Given the description of an element on the screen output the (x, y) to click on. 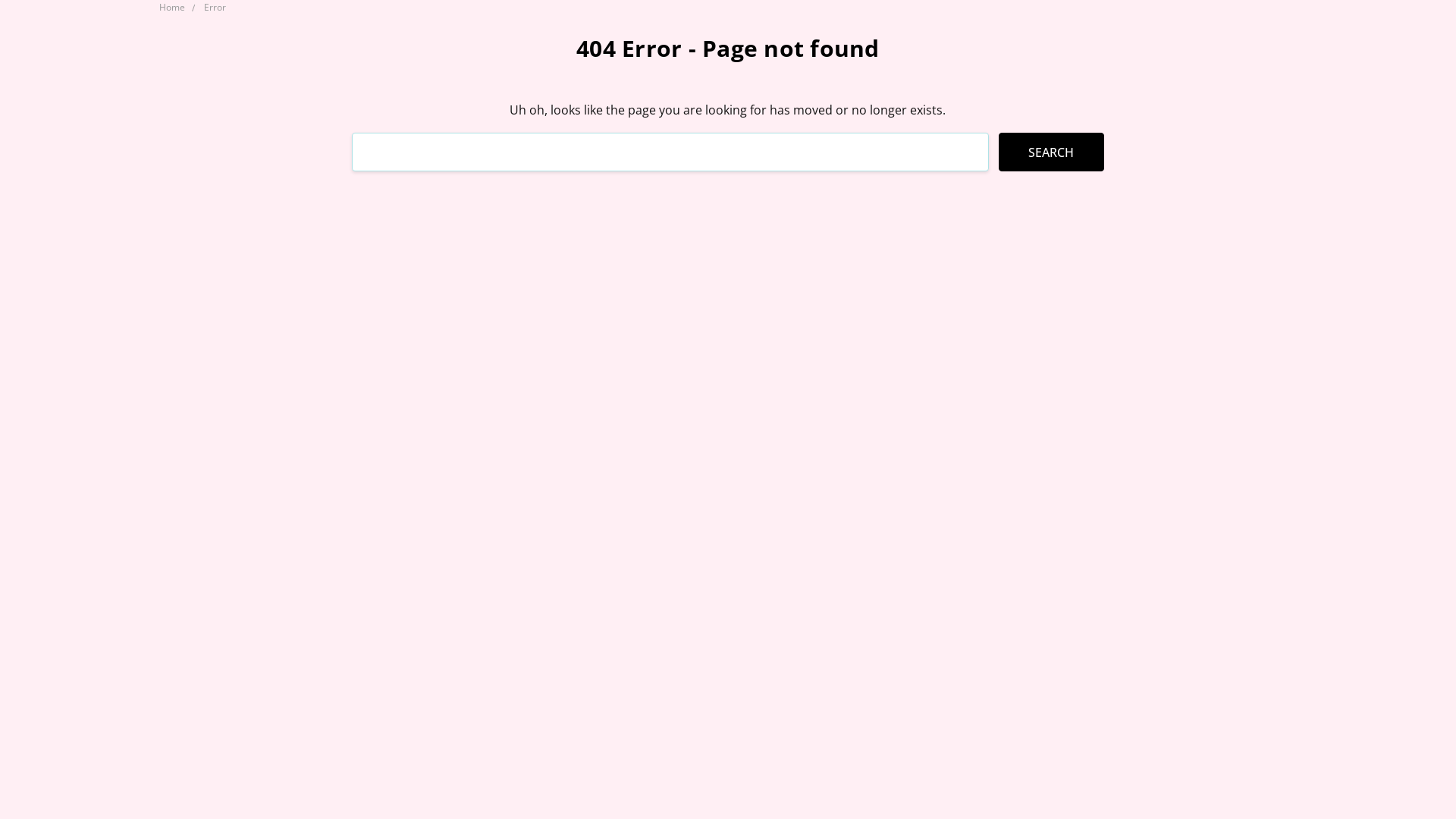
Home Element type: text (172, 6)
Error Element type: text (214, 6)
Search Element type: text (1051, 151)
